Given the description of an element on the screen output the (x, y) to click on. 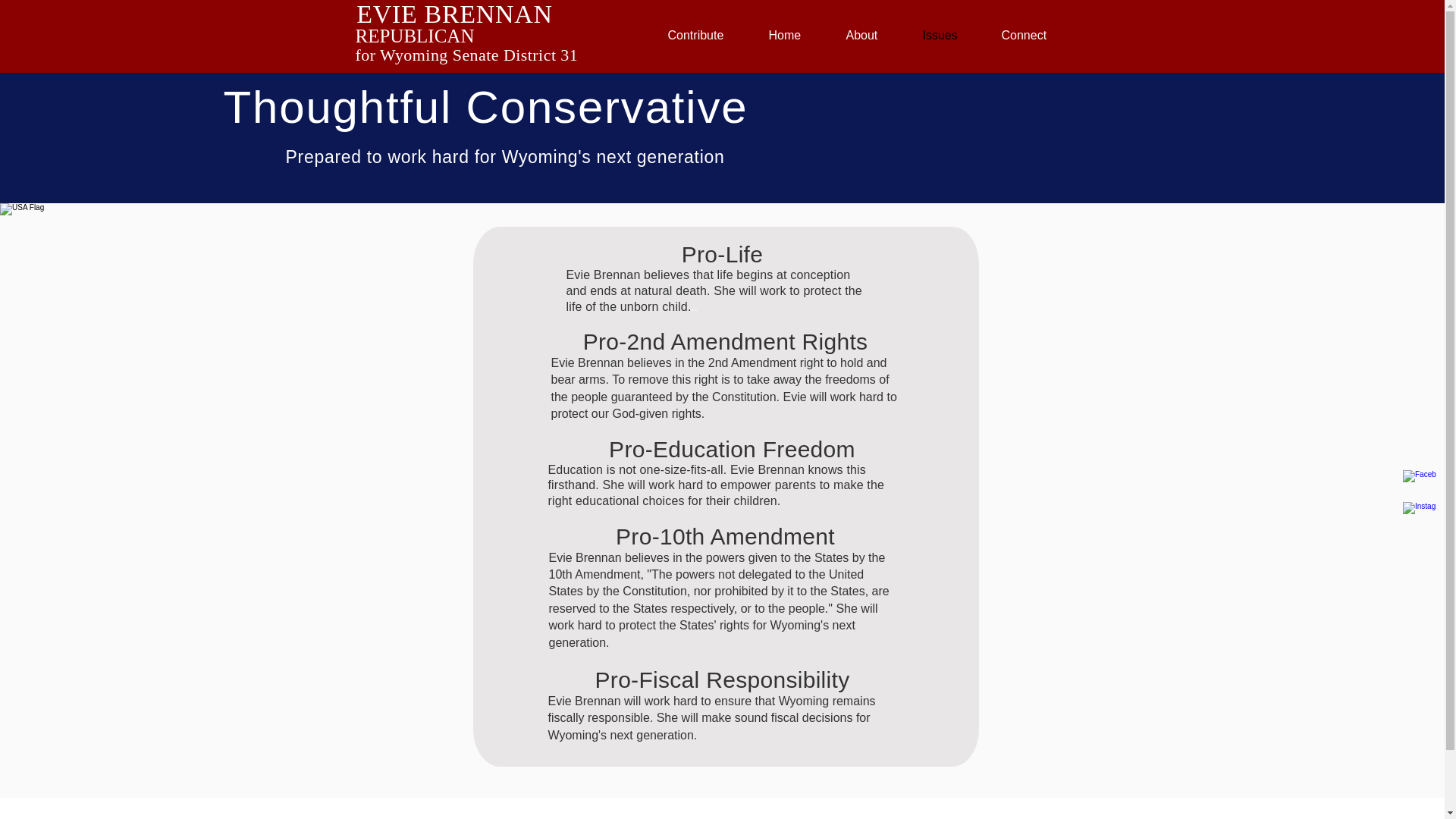
EVIE BRENNAN (453, 13)
Connect (1035, 35)
Contribute (706, 35)
Issues (950, 35)
Home (795, 35)
About (872, 35)
